Given the description of an element on the screen output the (x, y) to click on. 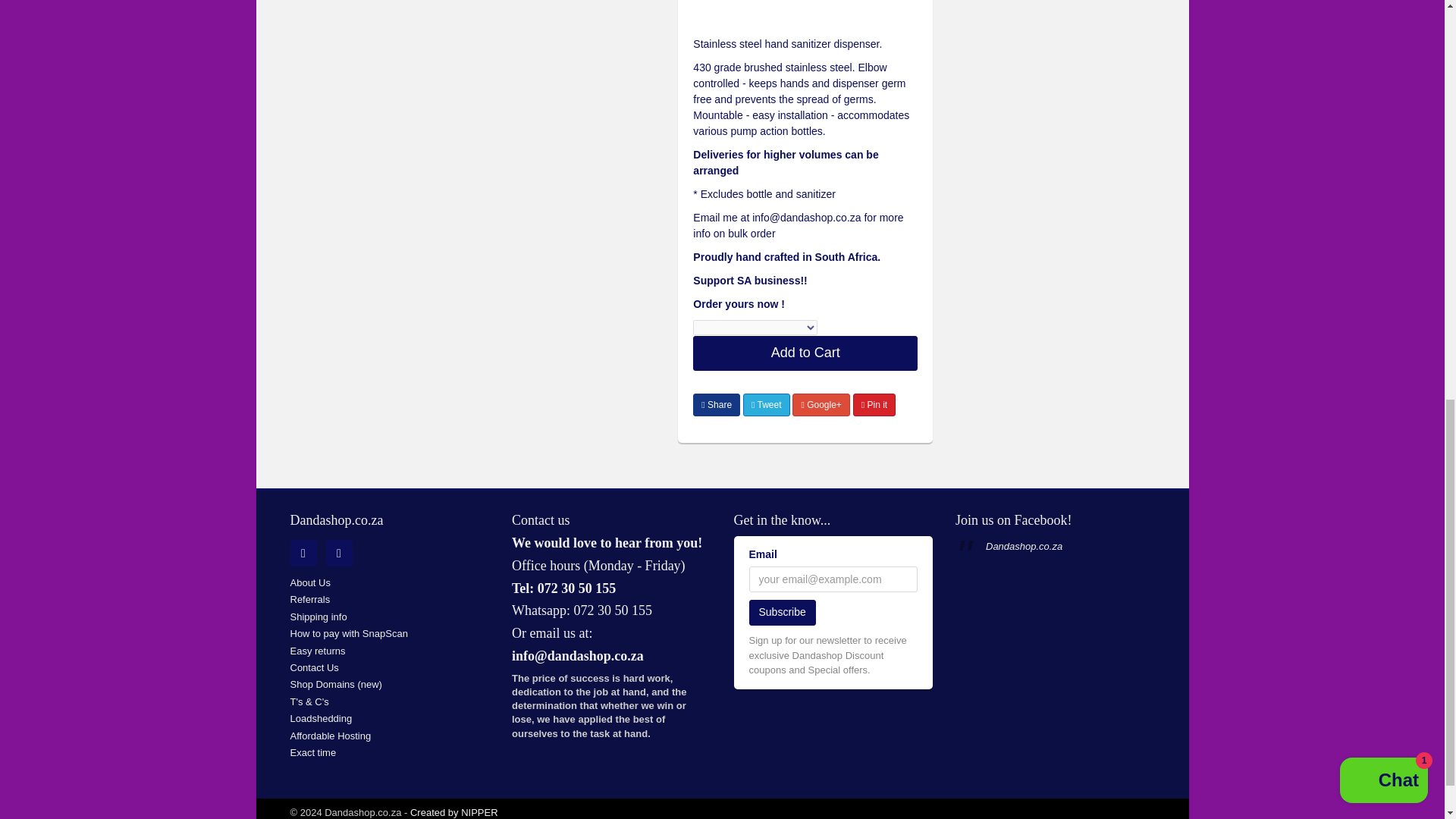
Add to Cart (805, 353)
Twitter (302, 552)
Facebook (339, 552)
Subscribe (782, 612)
